Given the description of an element on the screen output the (x, y) to click on. 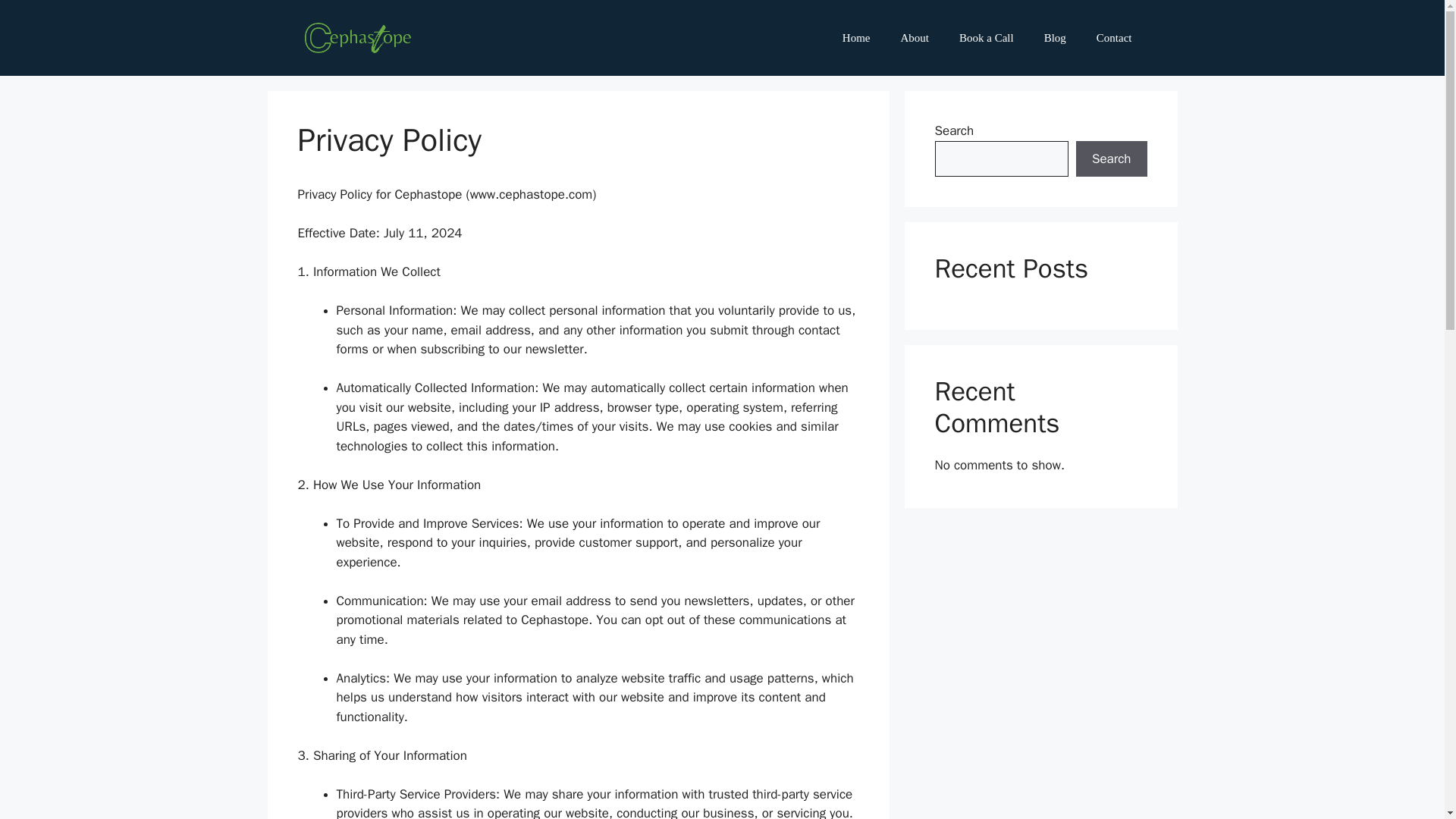
Contact (1114, 37)
About (914, 37)
Home (856, 37)
Book a Call (986, 37)
Search (1111, 158)
Blog (1055, 37)
